Given the description of an element on the screen output the (x, y) to click on. 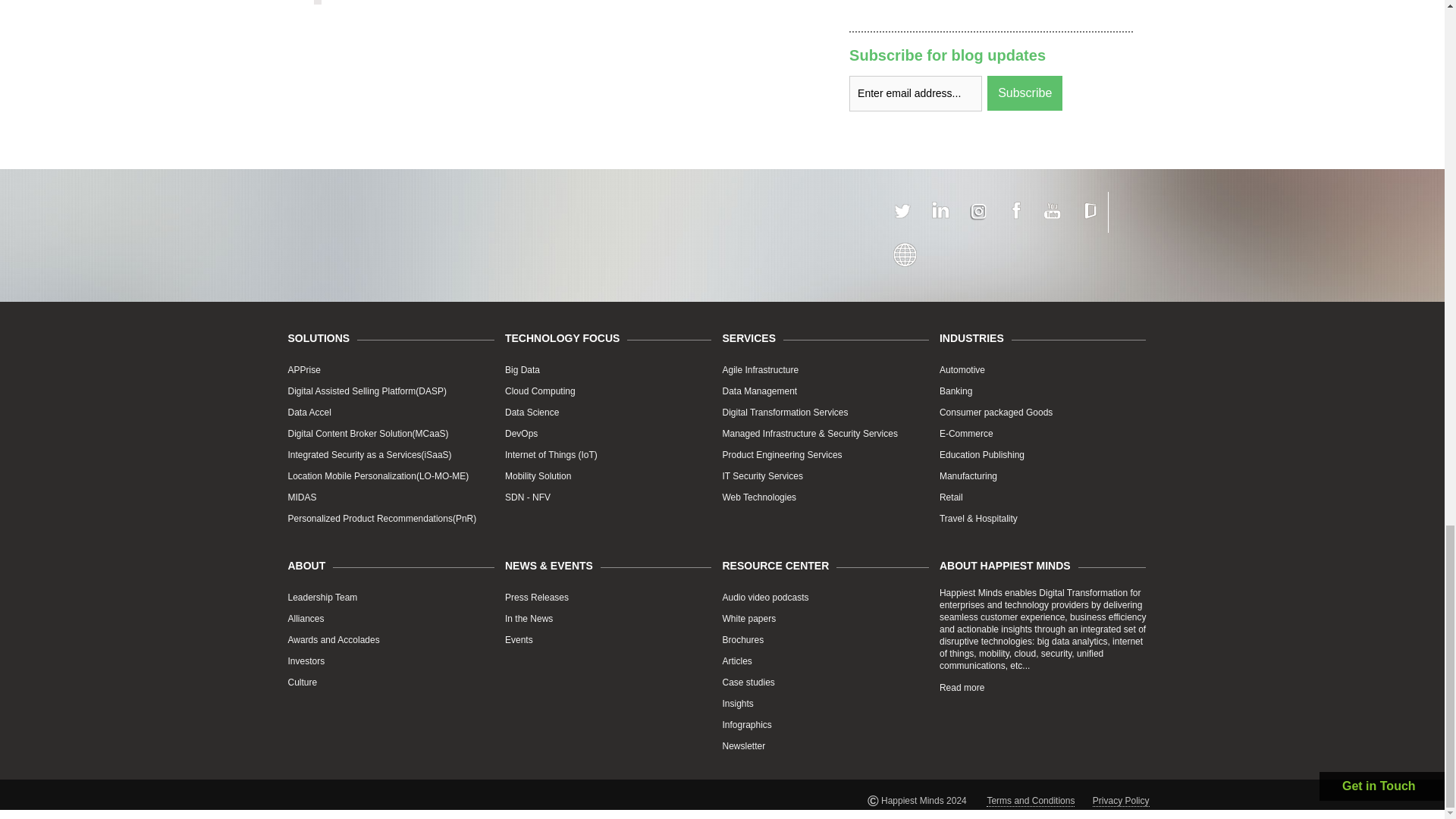
Subscribe (1024, 93)
